Given the description of an element on the screen output the (x, y) to click on. 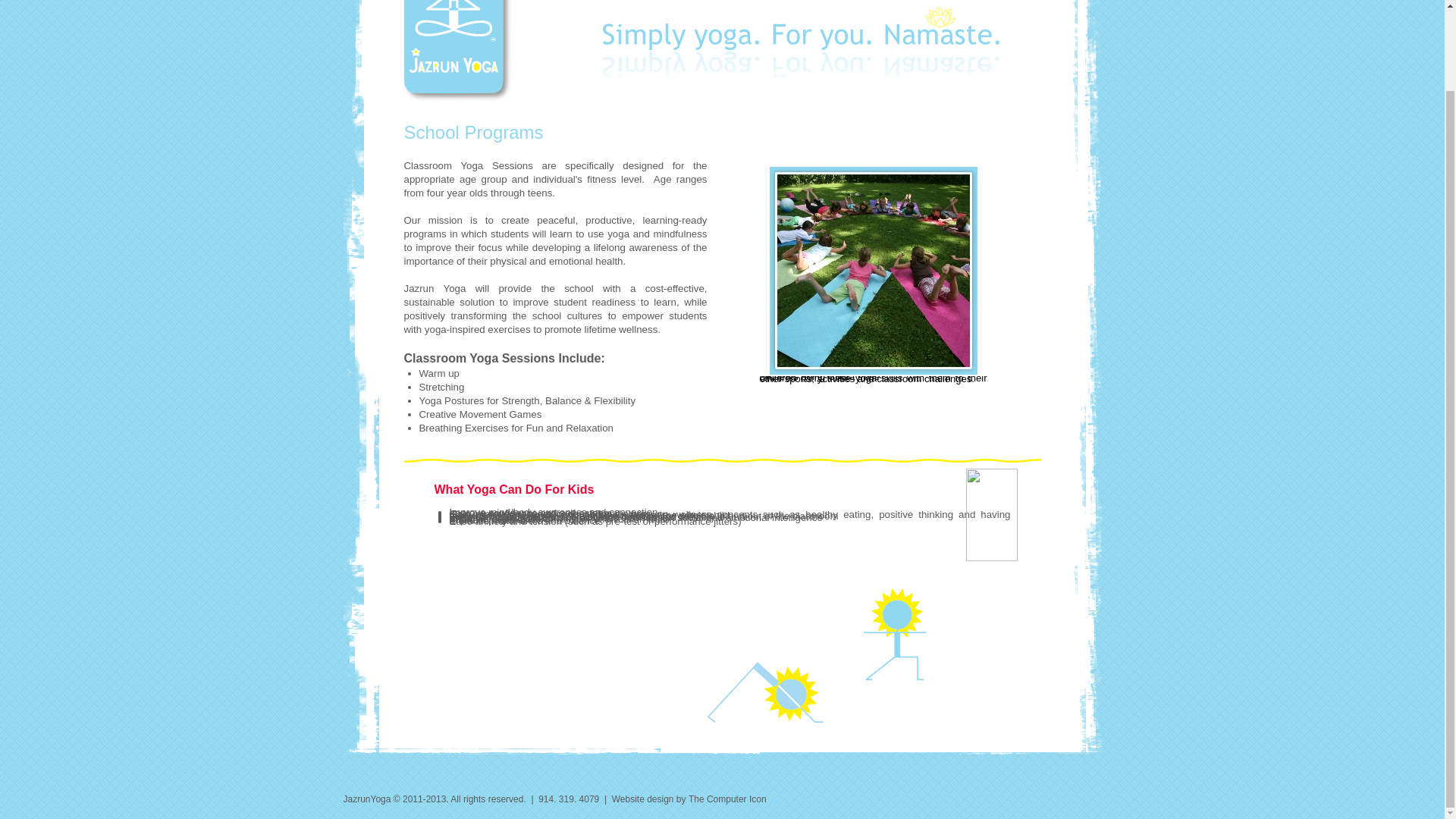
About Judy (480, 587)
Welcome (439, 587)
The Computer Icon (727, 798)
Contact (901, 587)
School Programs (781, 587)
Testimonials (1000, 587)
Yoga and Kabbalah (849, 587)
